Given the description of an element on the screen output the (x, y) to click on. 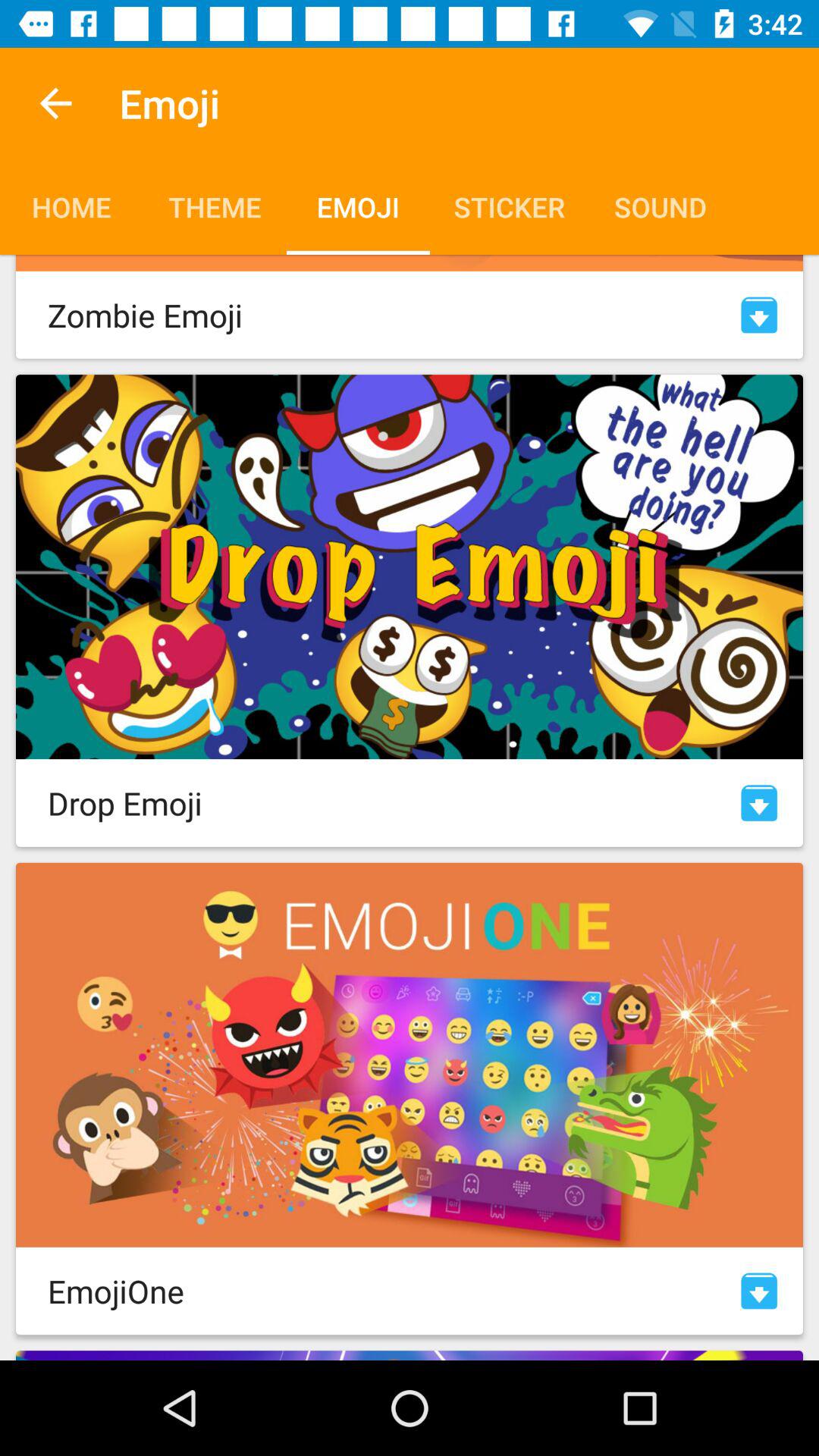
open the item to the left of the emoji icon (55, 103)
